Given the description of an element on the screen output the (x, y) to click on. 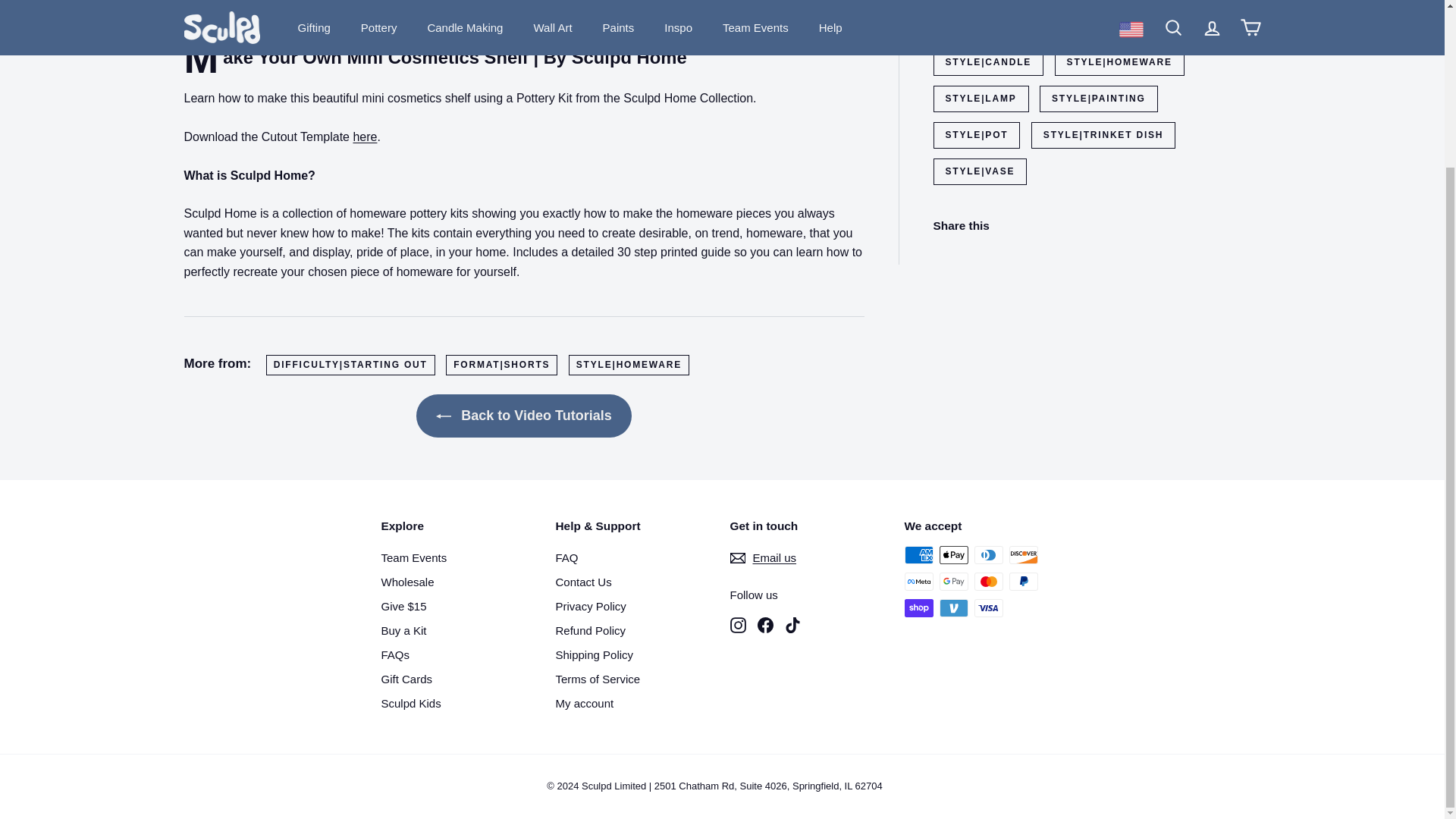
Google Pay (953, 581)
Discover (1022, 555)
PayPal (1022, 581)
American Express (918, 555)
Mastercard (988, 581)
Meta Pay (918, 581)
Shop Pay (918, 607)
Diners Club (988, 555)
Apple Pay (953, 555)
